Given the description of an element on the screen output the (x, y) to click on. 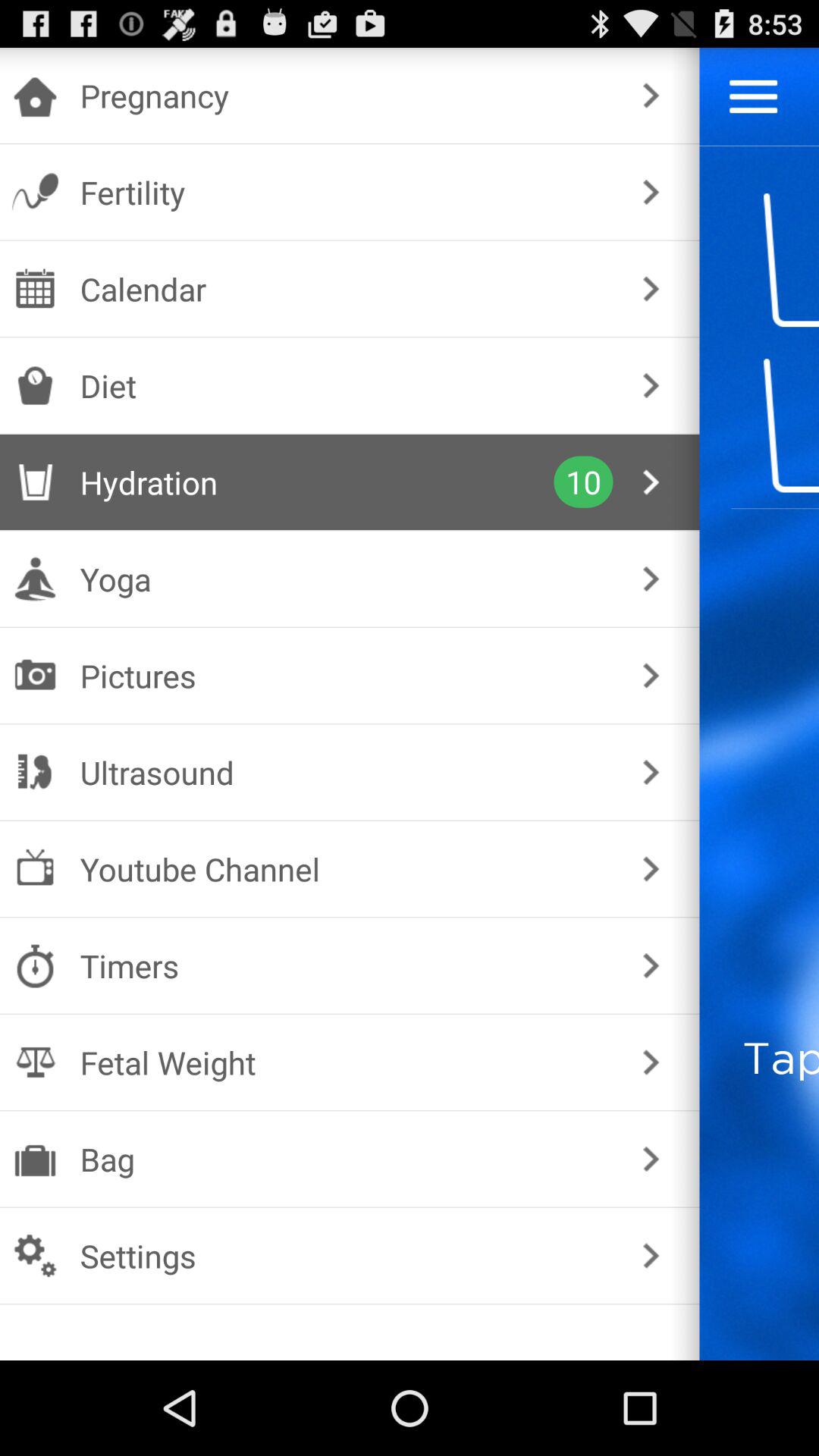
scroll to calendar checkbox (346, 288)
